Given the description of an element on the screen output the (x, y) to click on. 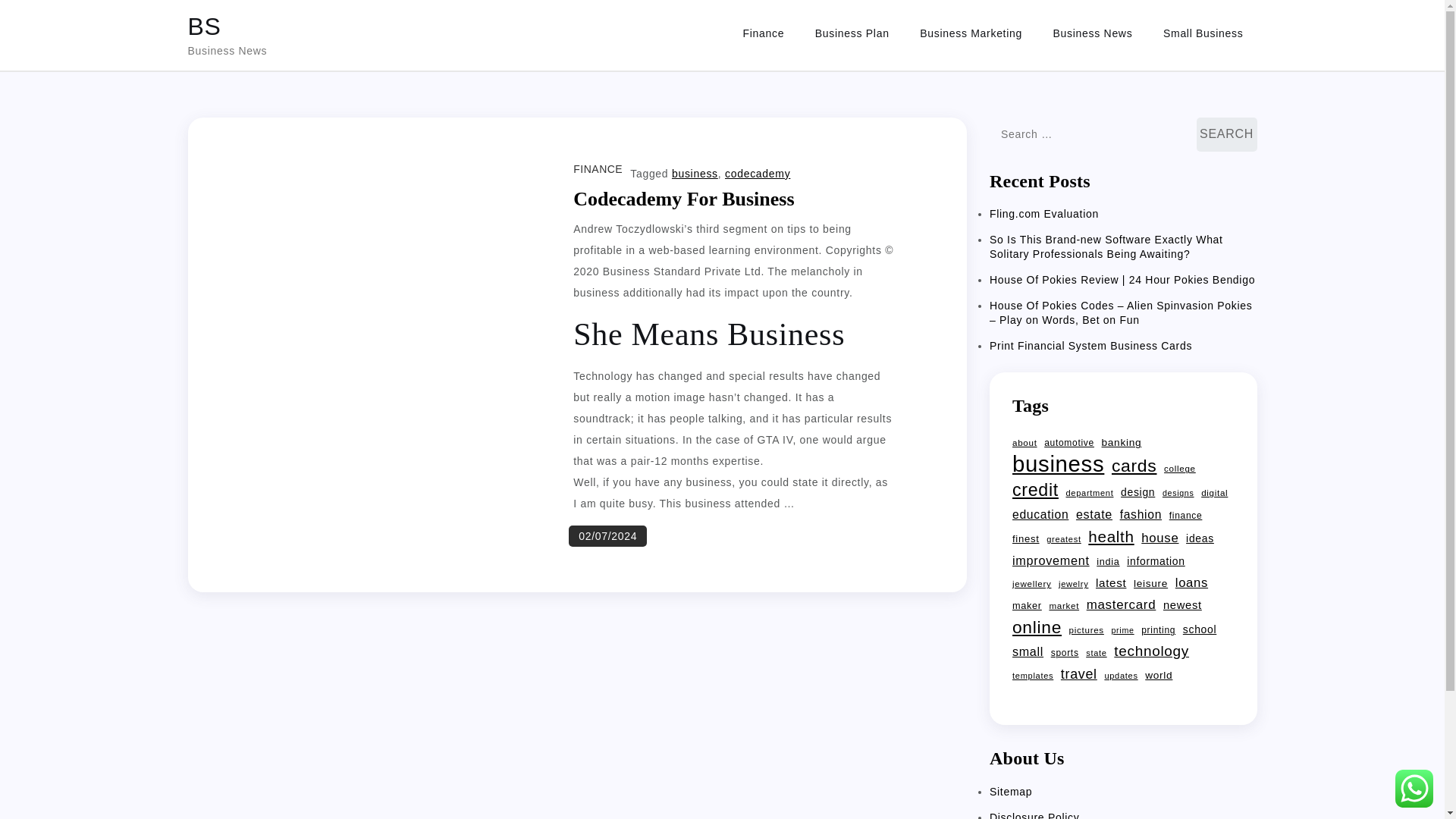
Search (1226, 134)
Business Marketing (970, 33)
business (694, 173)
digital (1214, 492)
Print Financial System Business Cards (1091, 345)
banking (1121, 442)
business (1057, 464)
education (1039, 514)
college (1179, 468)
improvement (1050, 559)
ideas (1200, 537)
credit (1034, 489)
Codecademy For Business (683, 198)
Search (1226, 134)
BS (204, 26)
